Given the description of an element on the screen output the (x, y) to click on. 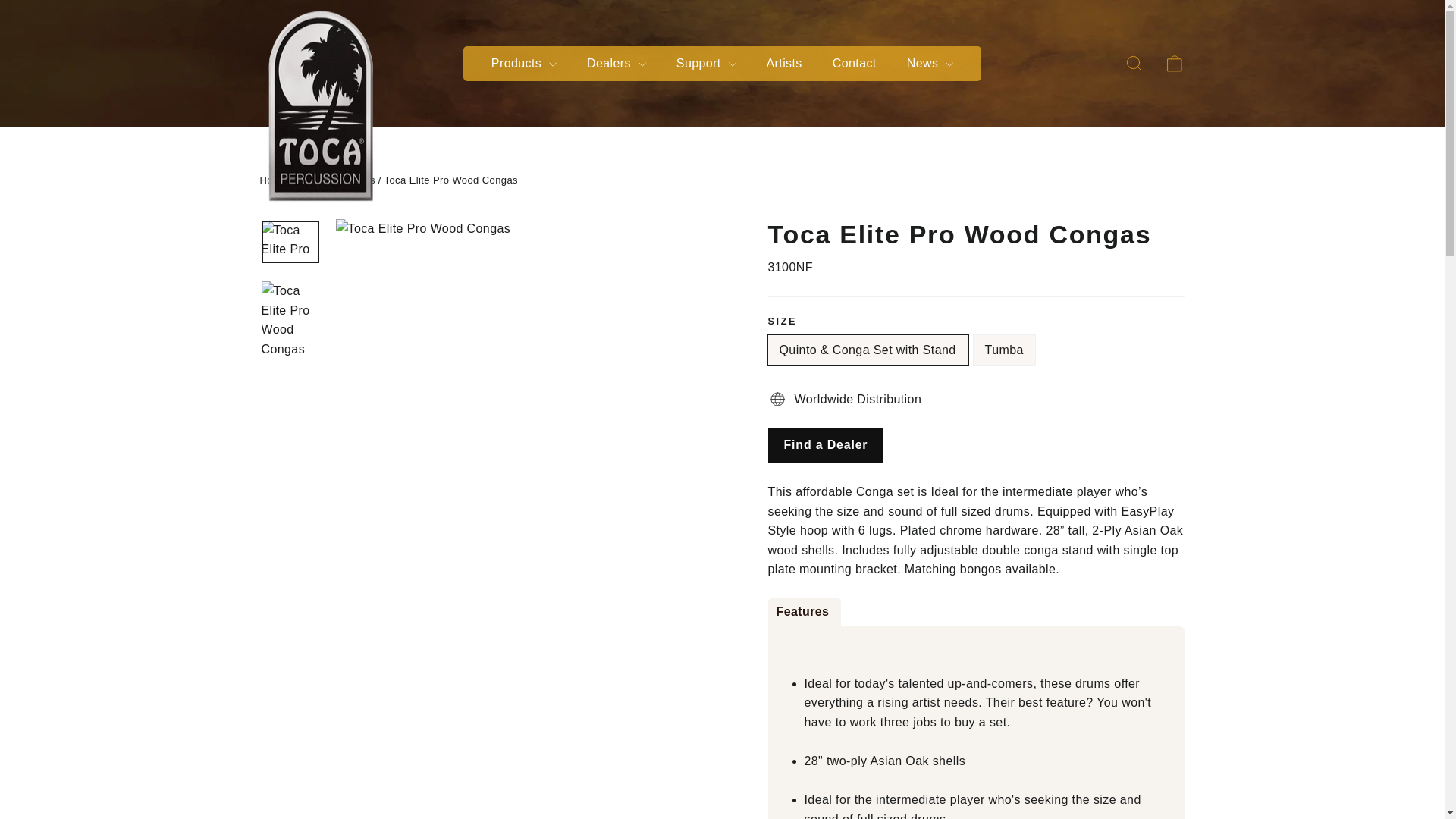
Back to the frontpage (272, 179)
